Given the description of an element on the screen output the (x, y) to click on. 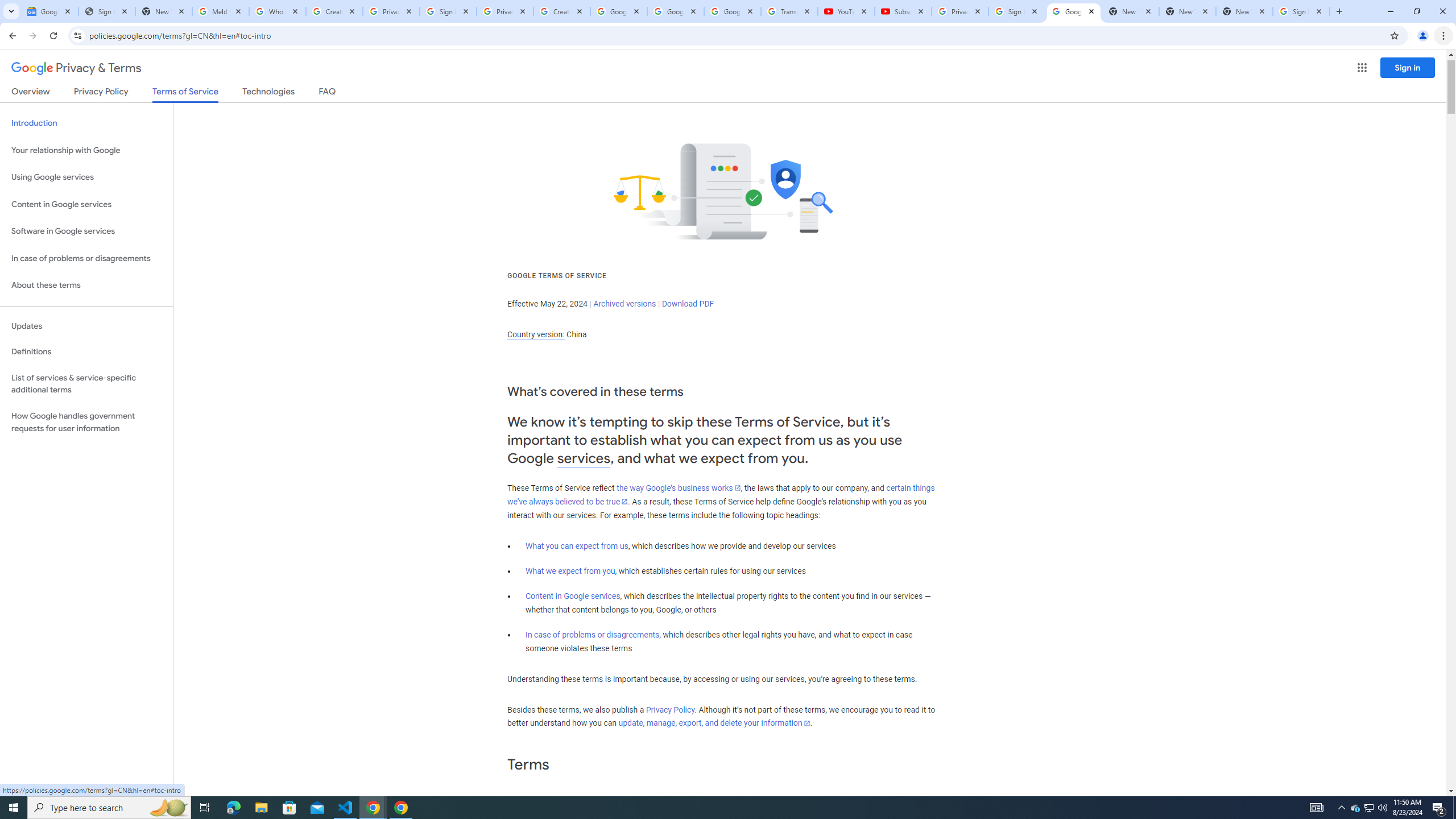
Country version: (535, 334)
Sign in - Google Accounts (1301, 11)
Google Account (731, 11)
Sign in - Google Accounts (447, 11)
Using Google services (86, 176)
About these terms (86, 284)
